Given the description of an element on the screen output the (x, y) to click on. 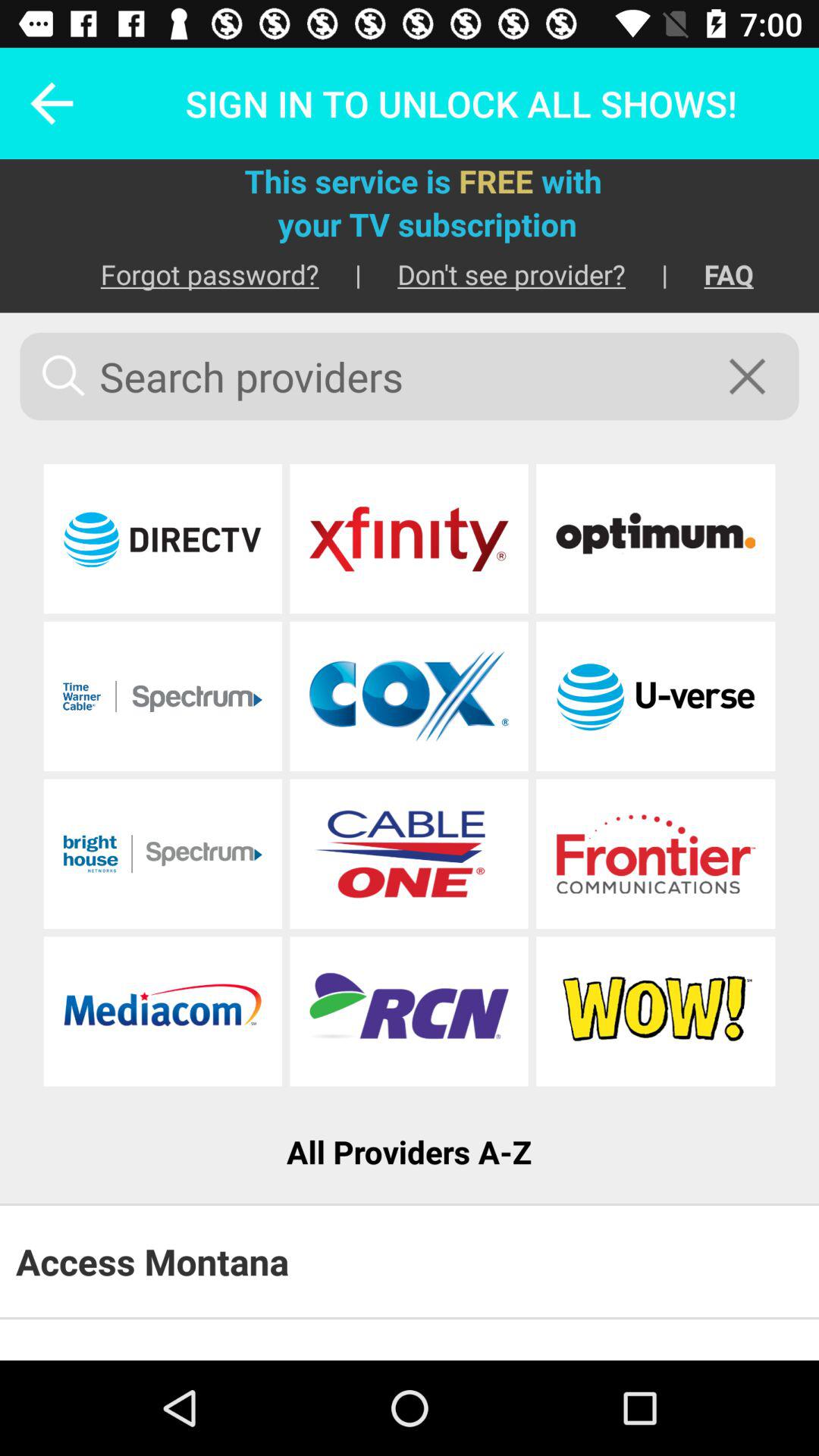
click on cox banner (408, 696)
